Given the description of an element on the screen output the (x, y) to click on. 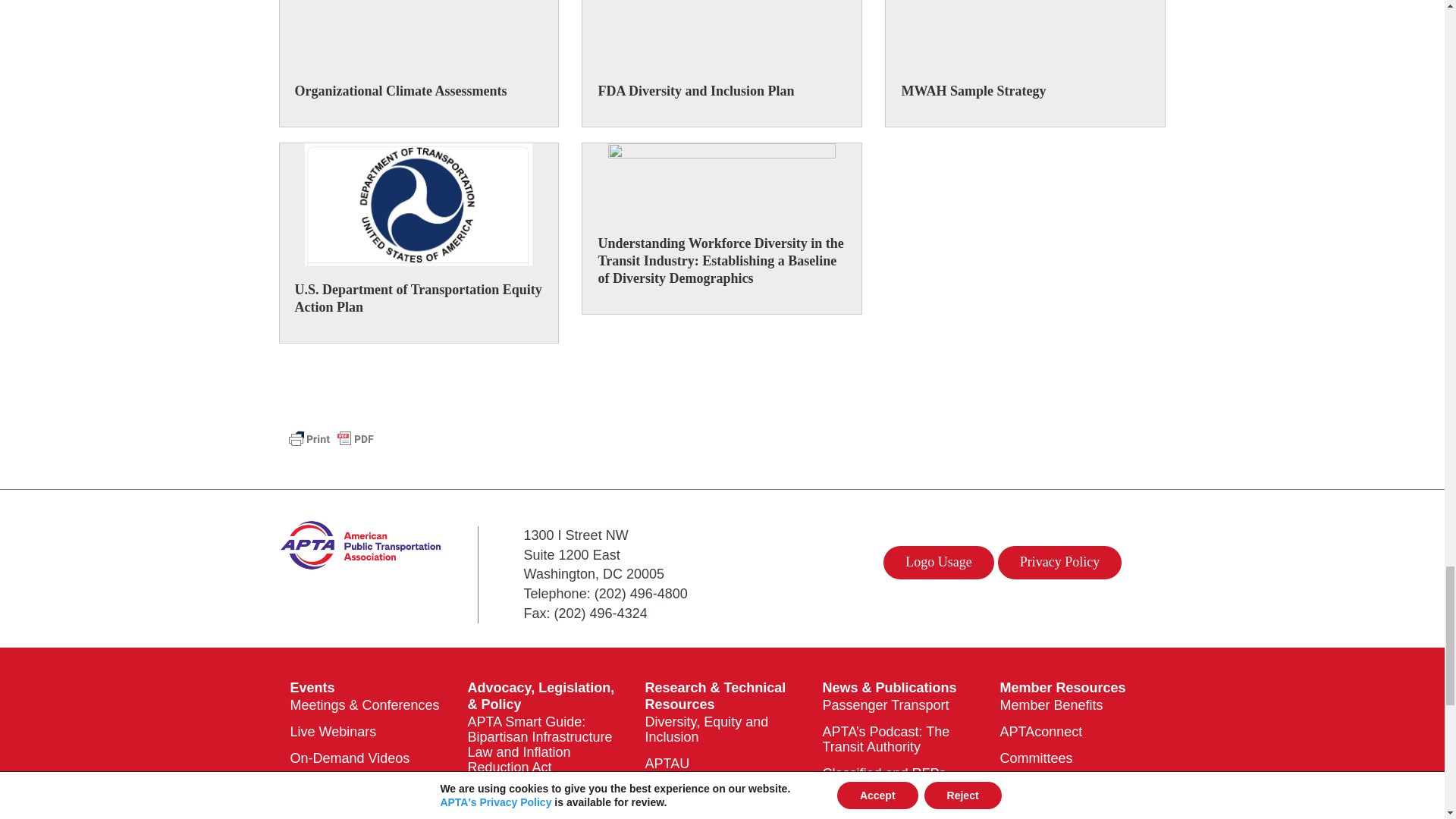
APTA Logo (360, 545)
